Given the description of an element on the screen output the (x, y) to click on. 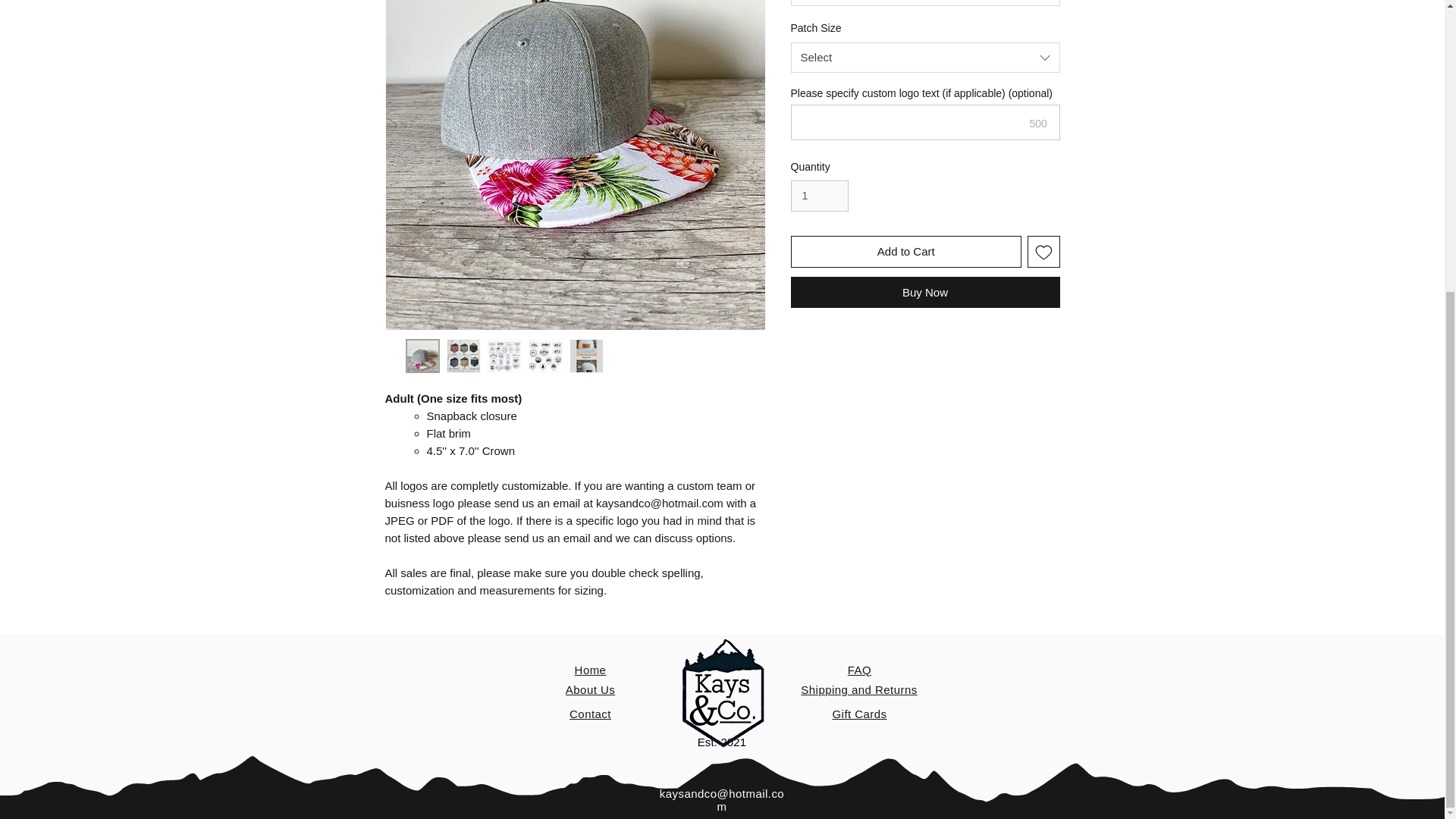
Contact (590, 713)
Select (924, 2)
Select (924, 57)
Gift Cards (858, 713)
FAQ (858, 669)
Add to Cart (906, 251)
About Us (590, 689)
Home (591, 669)
Buy Now (924, 291)
1 (818, 195)
